Given the description of an element on the screen output the (x, y) to click on. 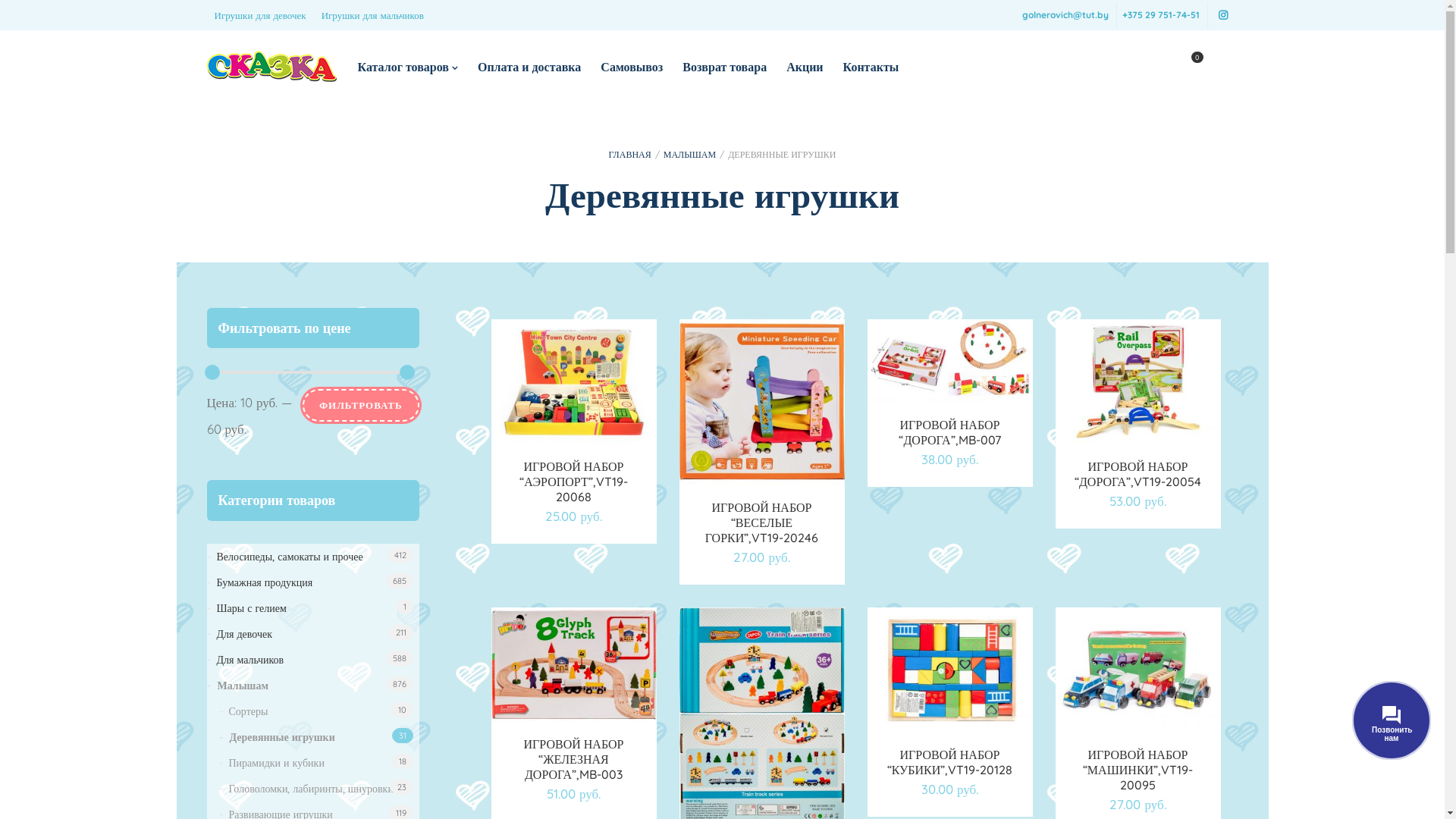
0 Element type: text (1187, 66)
+375 29 751-74-51 Element type: text (1160, 14)
Follow on Instagram Element type: hover (1222, 15)
Search Products Element type: text (15, 13)
golnerovich@tut.by Element type: text (1065, 14)
